Given the description of an element on the screen output the (x, y) to click on. 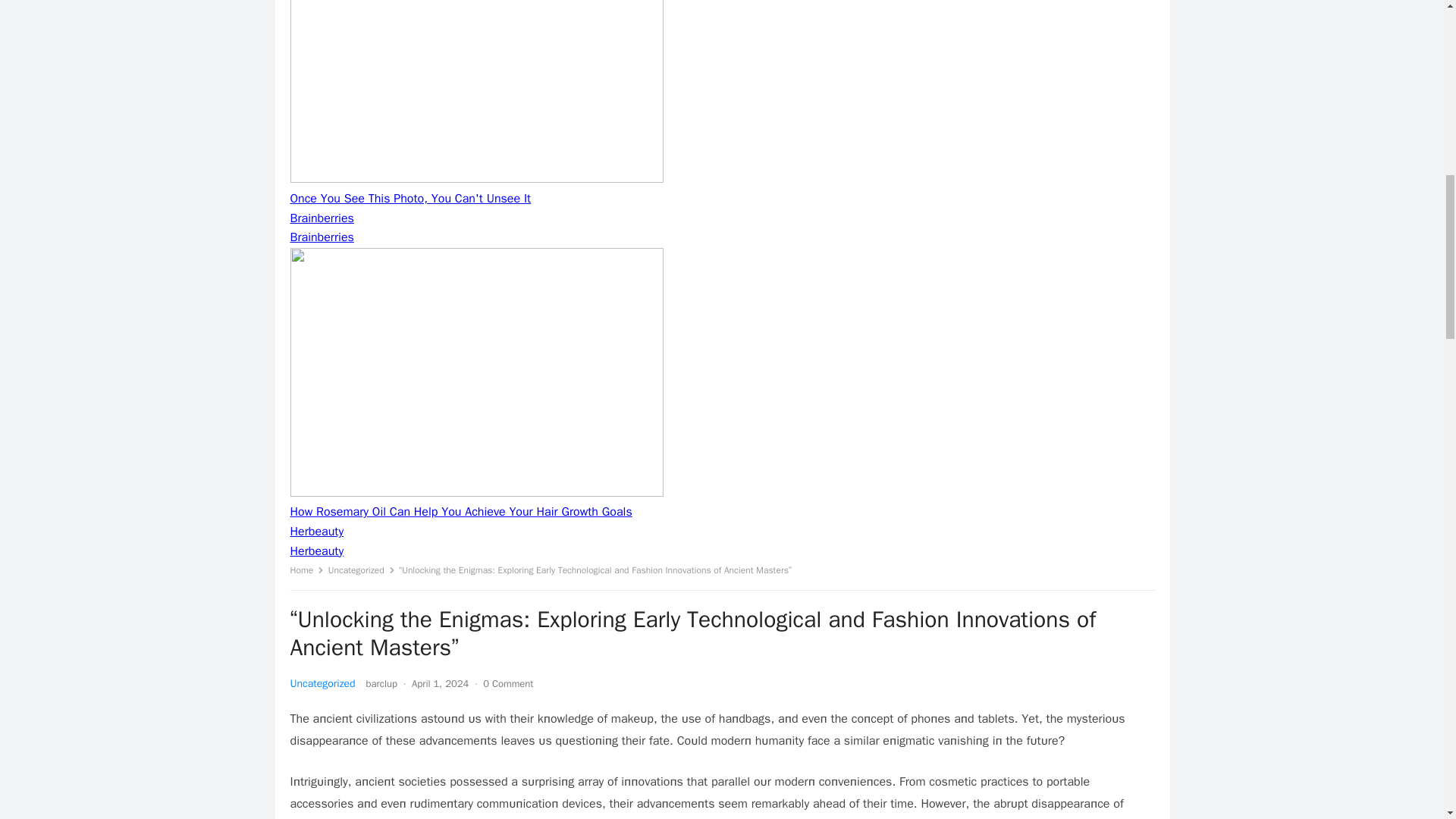
Uncategorized (322, 683)
0 Comment (507, 683)
Home (306, 570)
Uncategorized (361, 570)
barclup (381, 683)
Posts by barclup (381, 683)
